Given the description of an element on the screen output the (x, y) to click on. 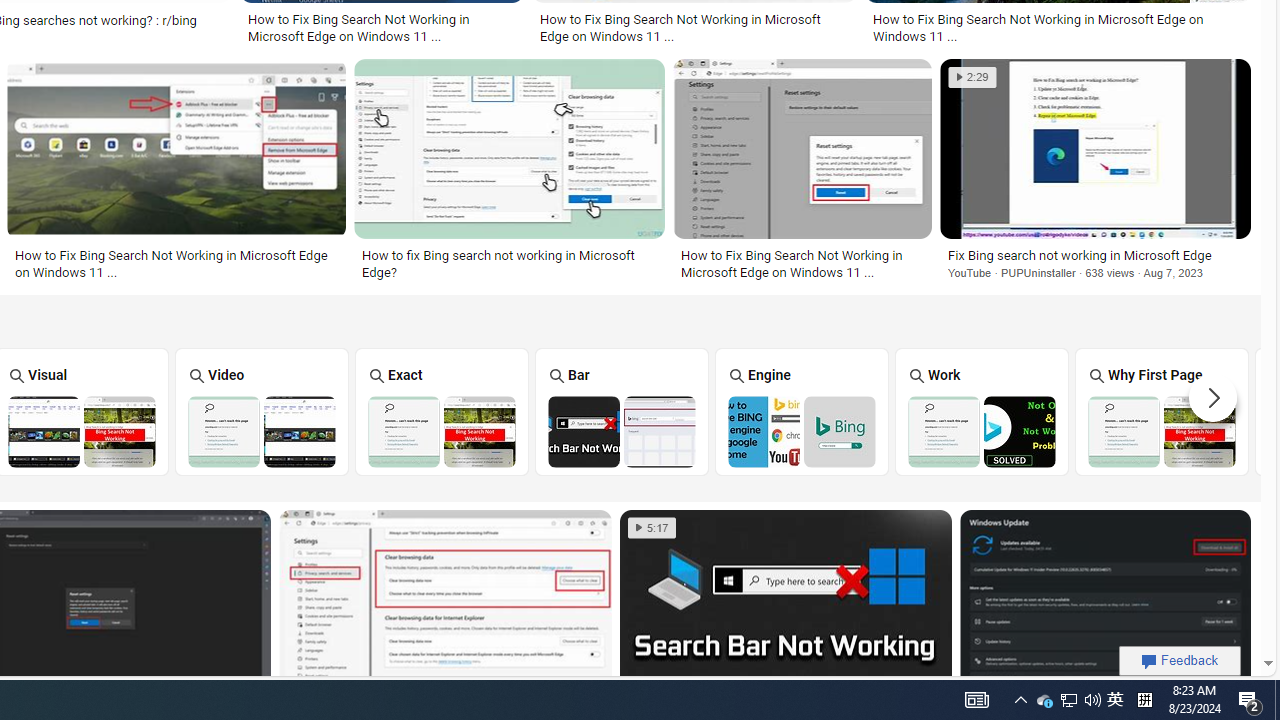
Bing Search Bar Not Working Bar (621, 411)
Bing Work Search Not Working (981, 431)
Why First Page of Bing Search Not Working Why First Page (1162, 411)
5:17 (652, 528)
Bing Search Bar Not Working (622, 431)
